Given the description of an element on the screen output the (x, y) to click on. 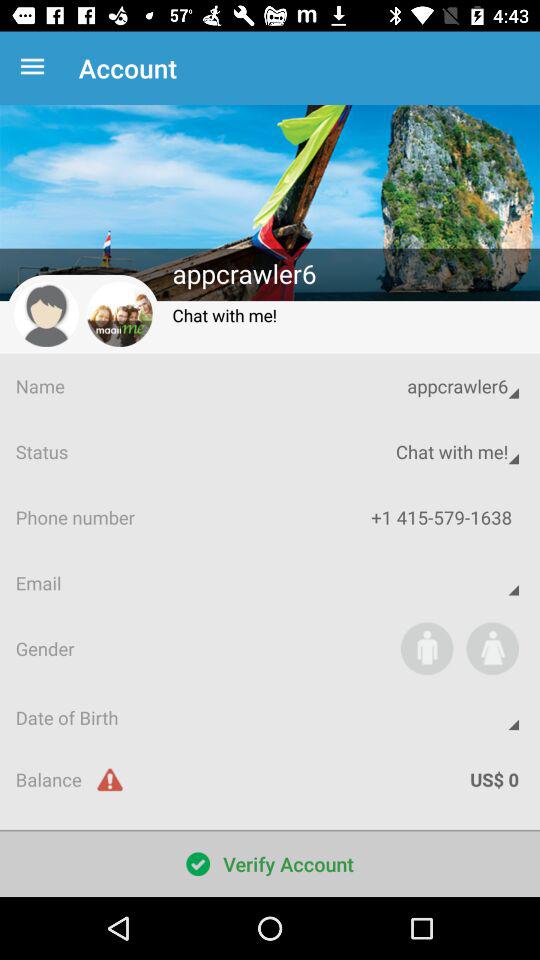
female gender option (492, 648)
